Given the description of an element on the screen output the (x, y) to click on. 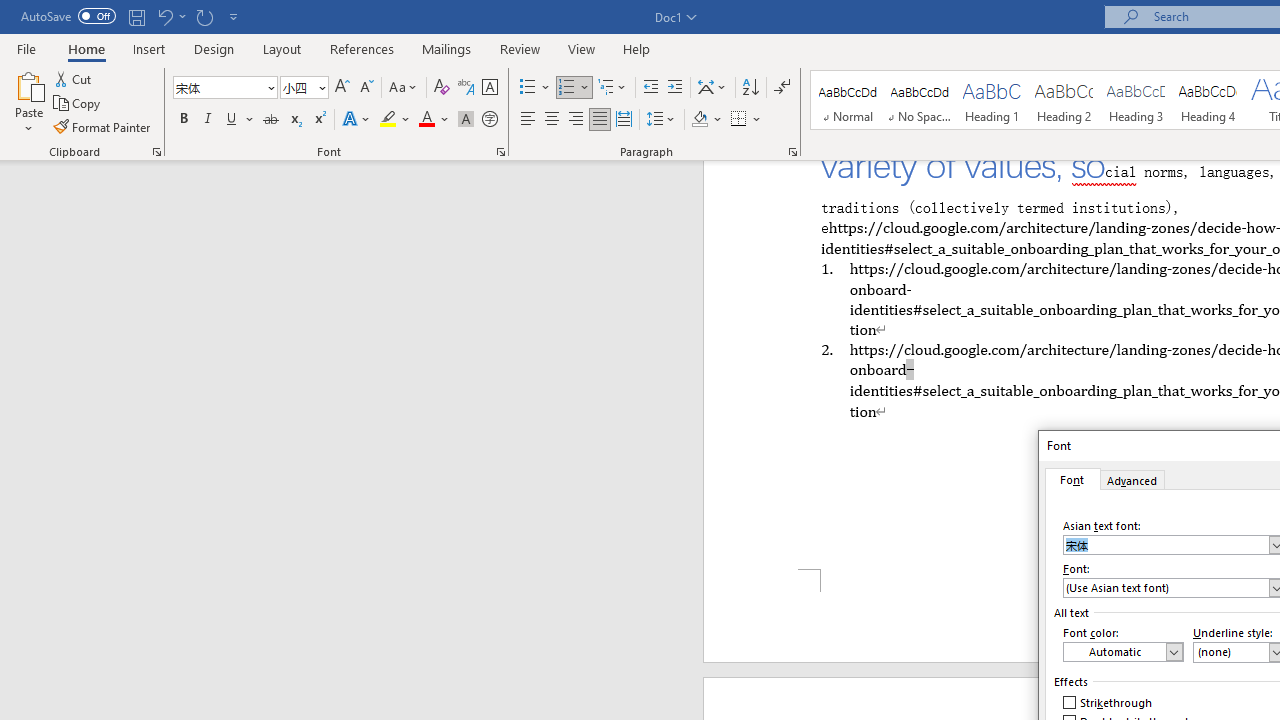
Grow Font (342, 87)
Font Color (434, 119)
Heading 4 (1208, 100)
Text Effects and Typography (357, 119)
Align Left (527, 119)
Phonetic Guide... (465, 87)
Heading 1 (991, 100)
Center (552, 119)
